Given the description of an element on the screen output the (x, y) to click on. 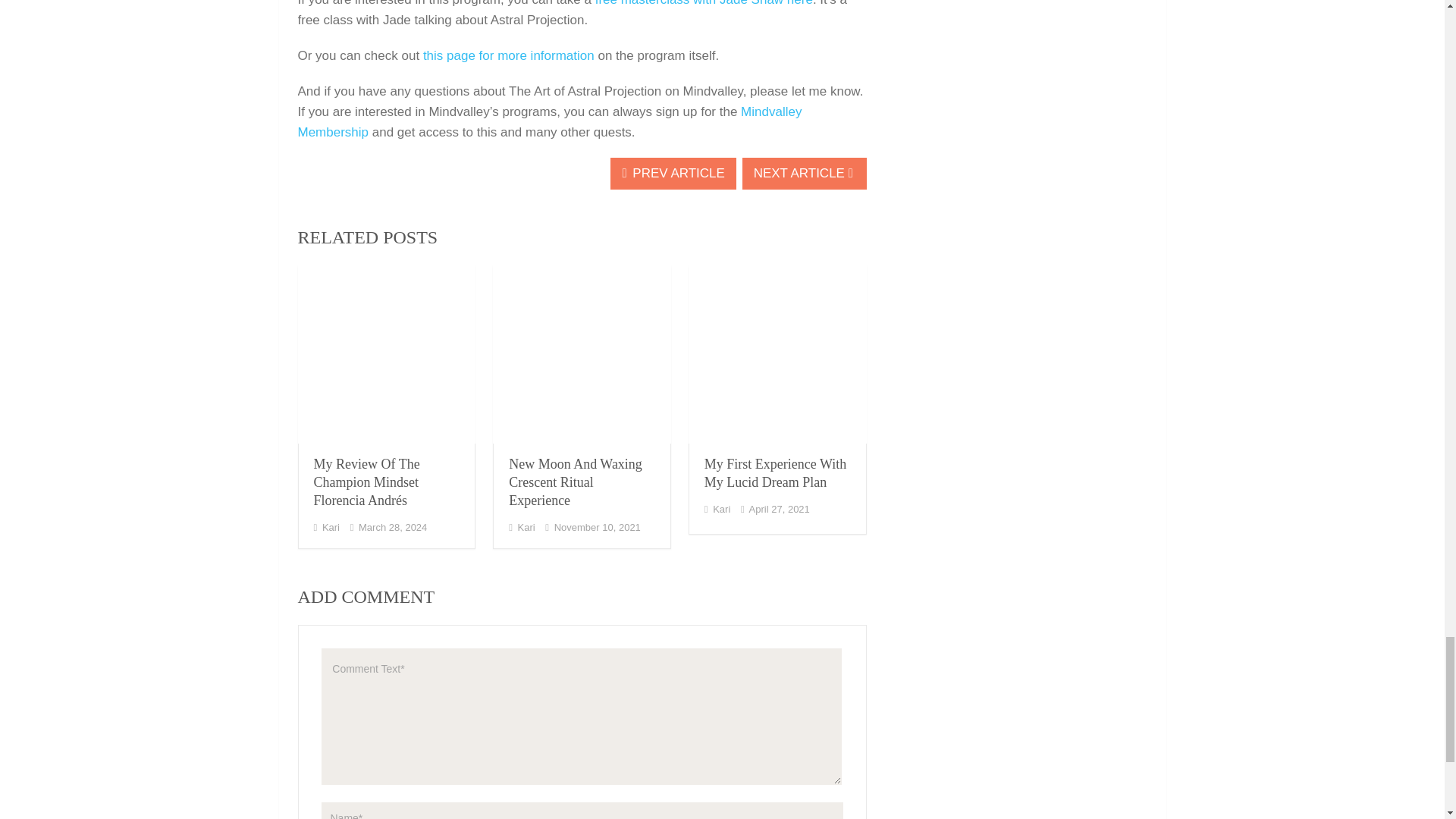
Posts by Kari (526, 527)
My First Experience With My Lucid Dream Plan (777, 354)
Posts by Kari (330, 527)
Posts by Kari (721, 509)
New Moon And Waxing Crescent Ritual Experience (582, 354)
New Moon And Waxing Crescent Ritual Experience (575, 481)
My First Experience With My Lucid Dream Plan (774, 472)
